Given the description of an element on the screen output the (x, y) to click on. 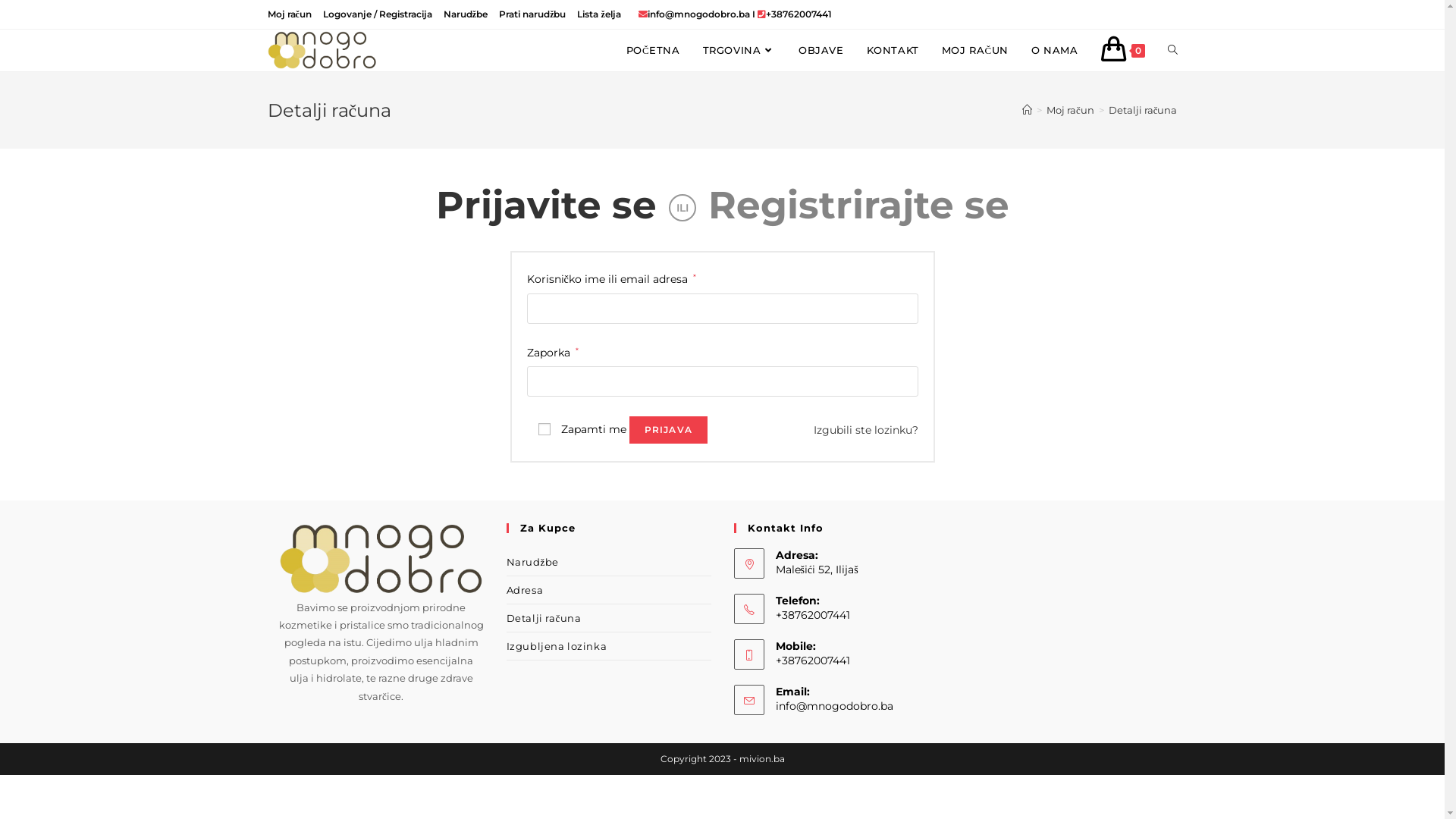
Logovanje / Registracija Element type: text (377, 14)
KONTAKT Element type: text (892, 50)
info@mnogodobro.ba Element type: text (698, 13)
Registrirajte se Element type: text (858, 205)
Izgubili ste lozinku? Element type: text (864, 429)
+38762007441 Element type: text (856, 660)
PRIJAVA Element type: text (668, 429)
info@mnogodobro.ba Element type: text (833, 705)
0 Element type: text (1121, 50)
Izgubljena lozinka Element type: text (608, 645)
TRGOVINA Element type: text (739, 50)
Prijavite se Element type: text (545, 205)
Adresa Element type: text (608, 589)
TOGGLE WEBSITE SEARCH Element type: text (1171, 50)
+38762007441 Element type: text (856, 614)
OBJAVE Element type: text (821, 50)
O NAMA Element type: text (1054, 50)
+38762007441 Element type: text (798, 13)
